Given the description of an element on the screen output the (x, y) to click on. 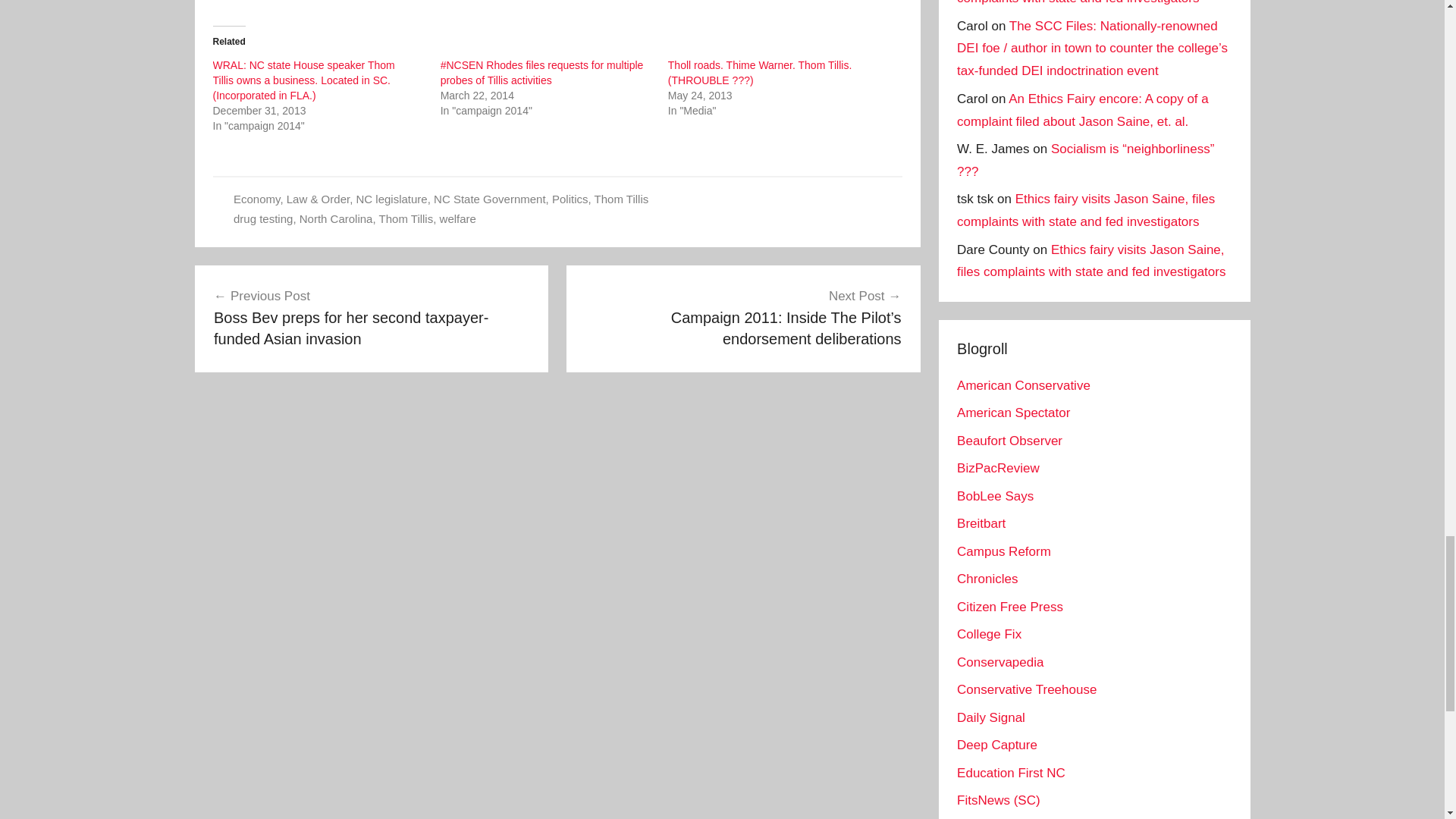
North Carolina (335, 218)
Politics (569, 198)
NC State Government (489, 198)
welfare (457, 218)
Thom Tillis (621, 198)
drug testing (262, 218)
Economy (255, 198)
Thom Tillis (405, 218)
NC legislature (390, 198)
